Given the description of an element on the screen output the (x, y) to click on. 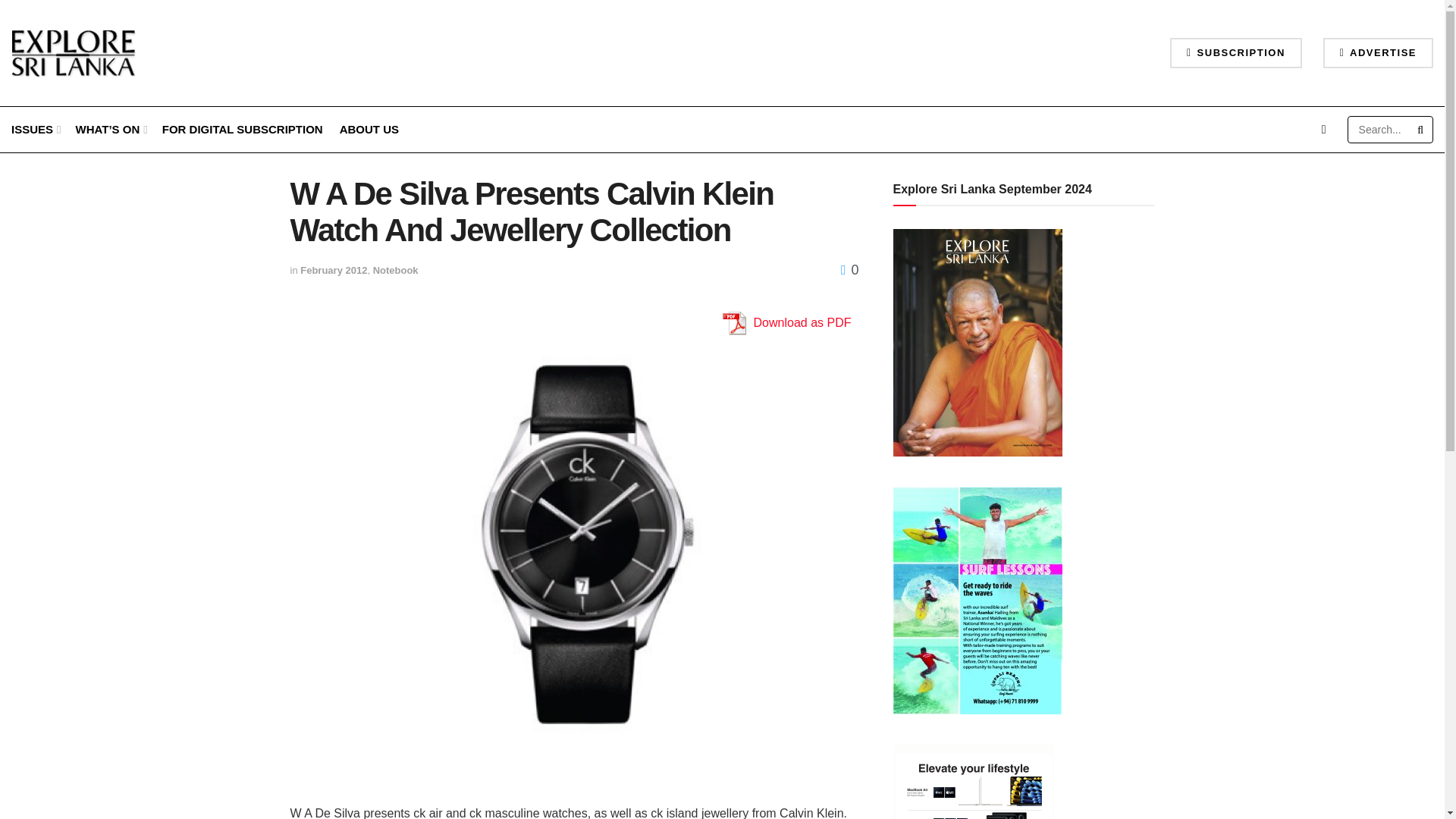
SUBSCRIPTION (1235, 52)
ADVERTISE (1377, 52)
ISSUES (35, 129)
View PDF (733, 323)
